Given the description of an element on the screen output the (x, y) to click on. 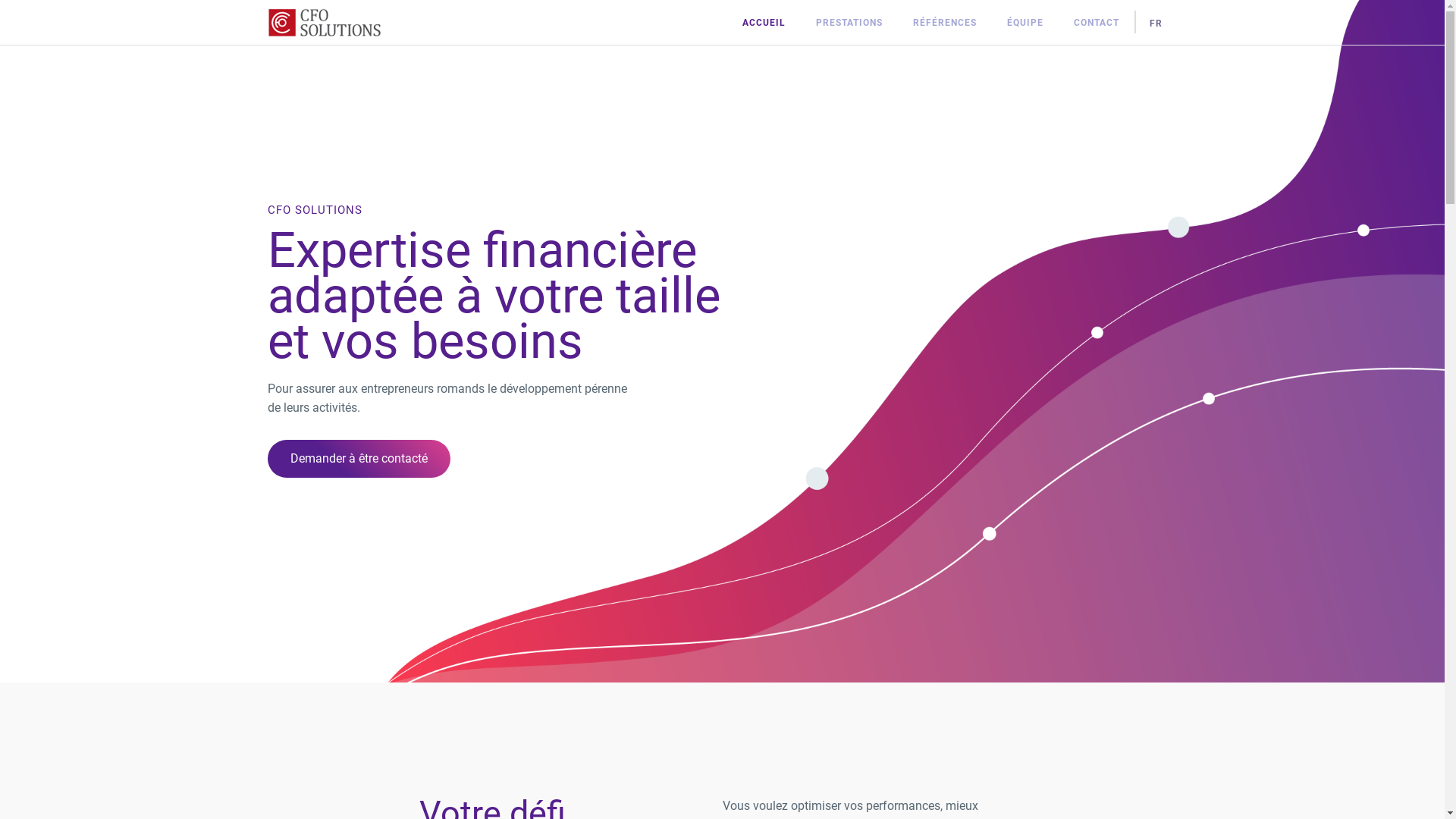
logo Element type: hover (323, 22)
PRESTATIONS Element type: text (848, 21)
ACCUEIL Element type: text (763, 21)
FR Element type: text (1155, 21)
CONTACT Element type: text (1096, 21)
